Given the description of an element on the screen output the (x, y) to click on. 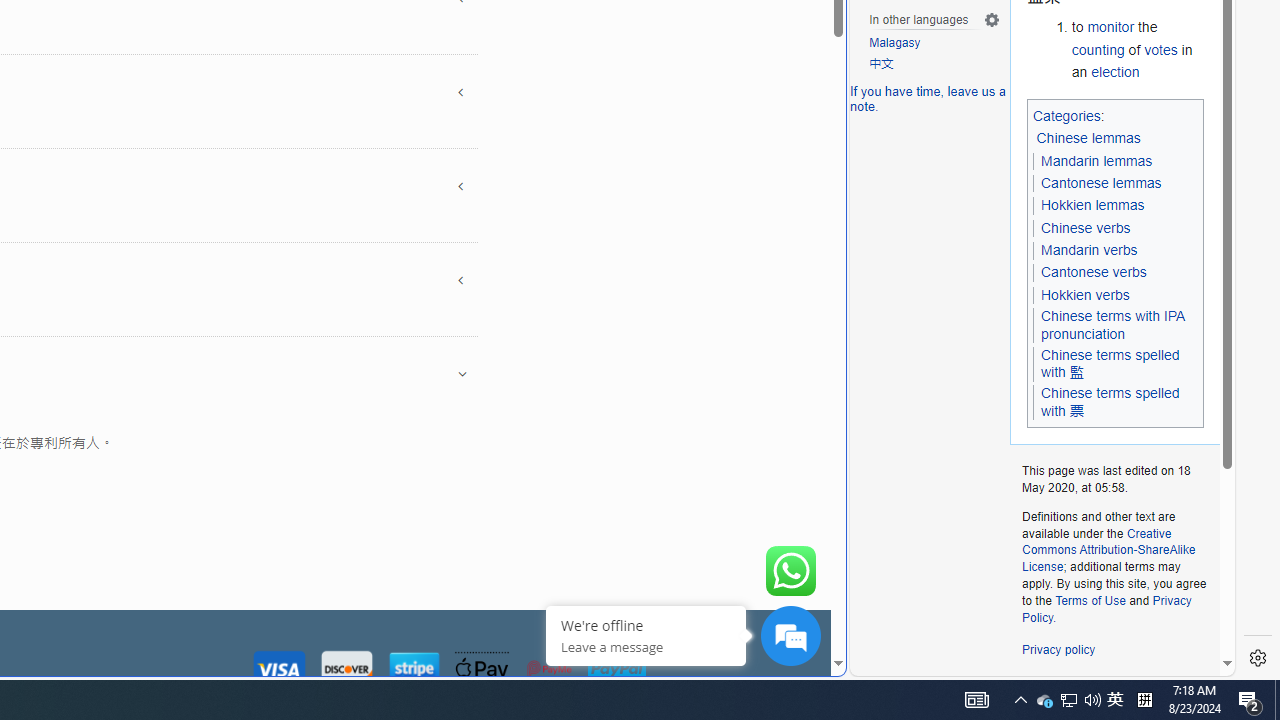
Categories (1066, 115)
